Given the description of an element on the screen output the (x, y) to click on. 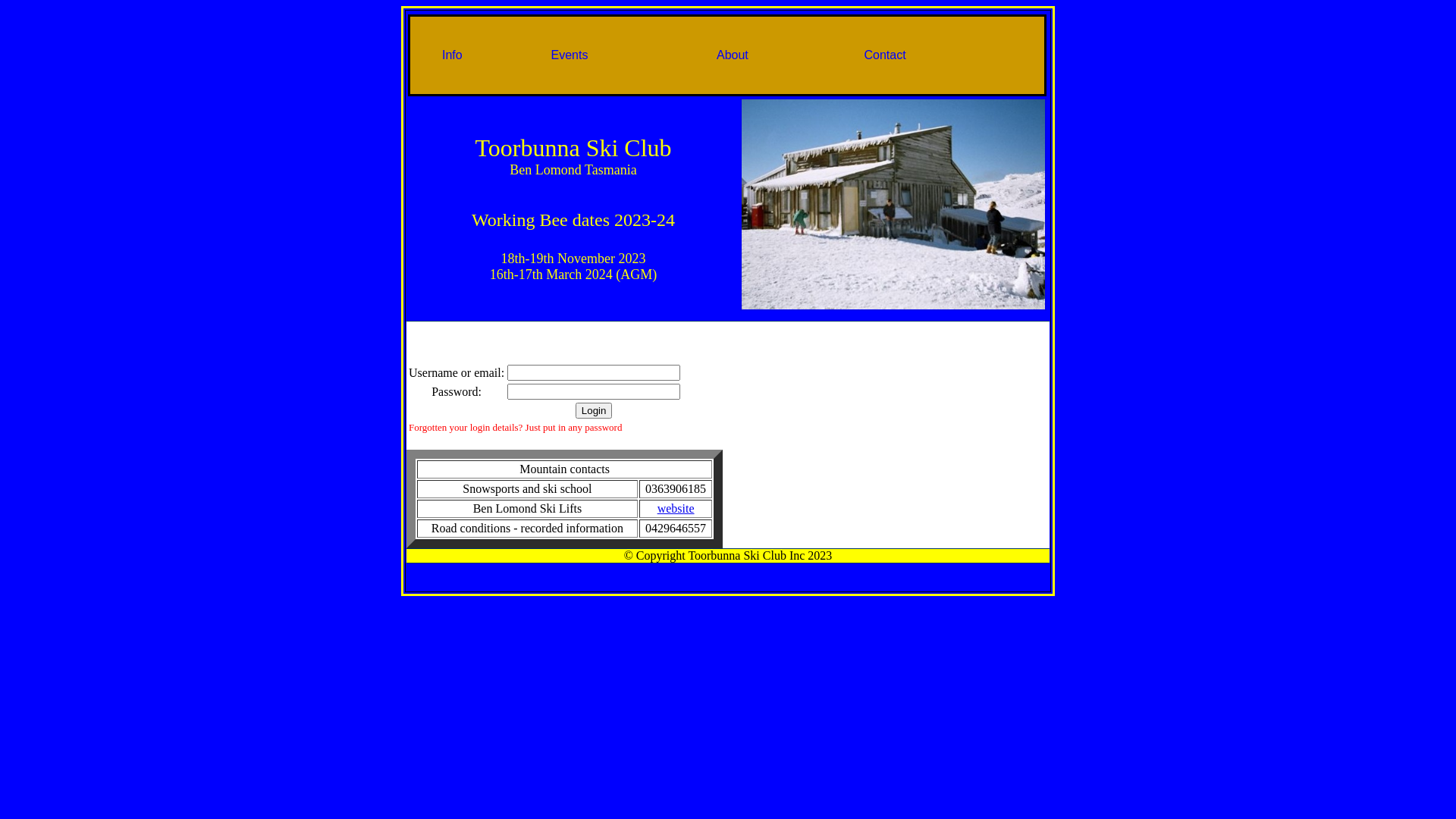
About Element type: text (732, 55)
Events Element type: text (569, 55)
Contact Element type: text (884, 55)
website Element type: text (675, 508)
Login Element type: text (593, 410)
Info Element type: text (452, 55)
